Given the description of an element on the screen output the (x, y) to click on. 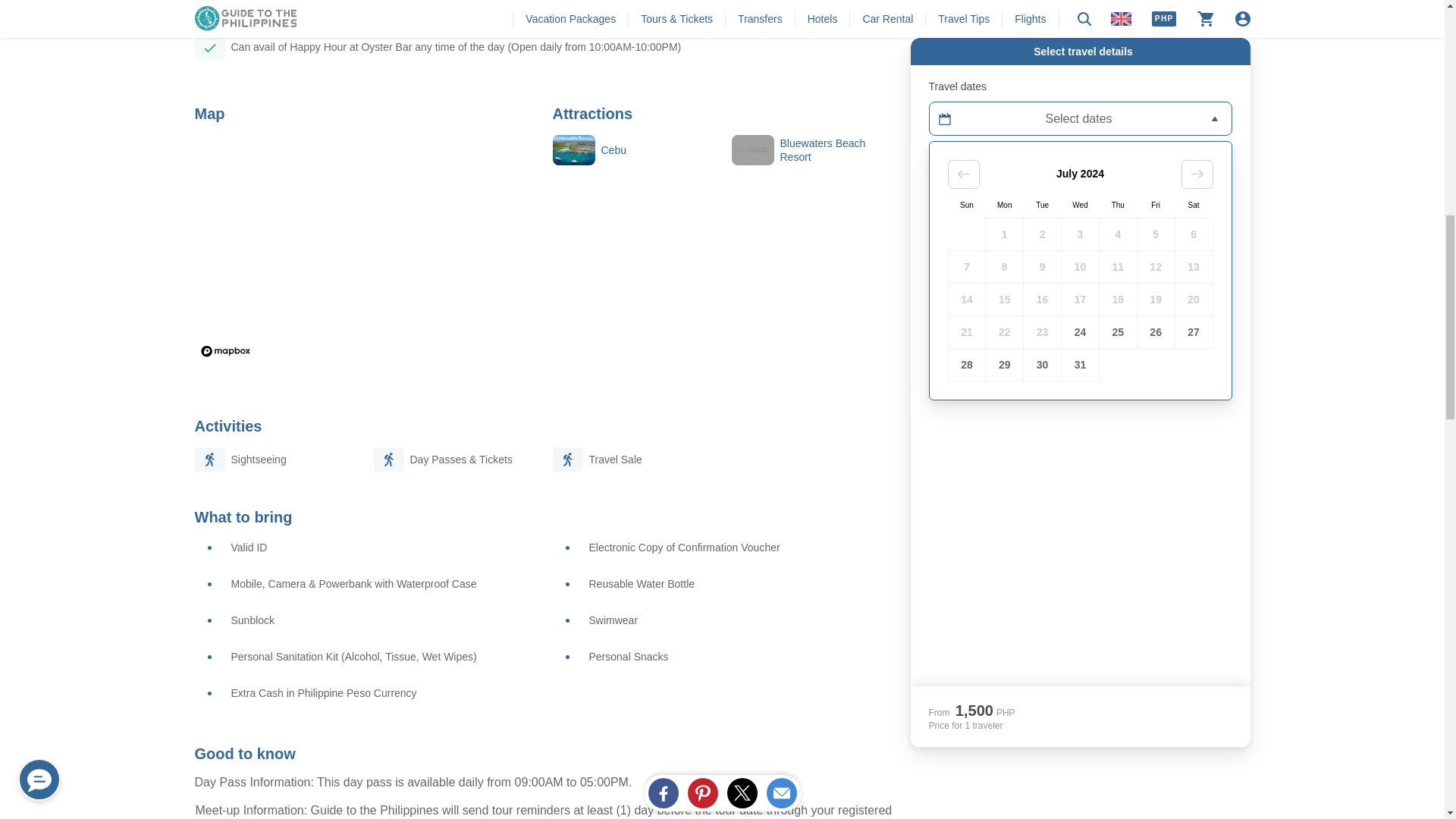
Cebu (632, 150)
Bluewaters Beach Resort  (810, 150)
